Given the description of an element on the screen output the (x, y) to click on. 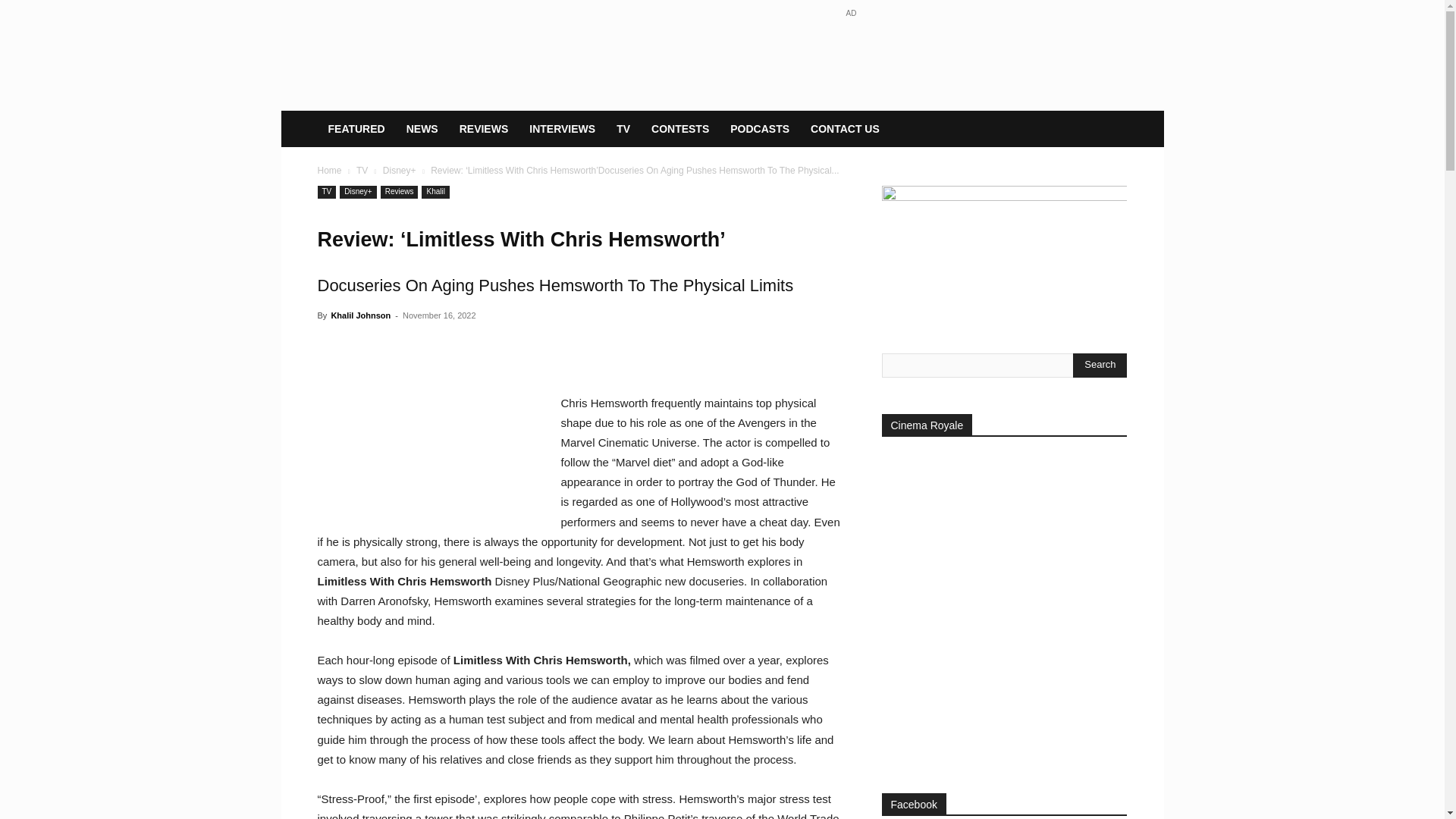
NEWS (422, 128)
FEATURED (355, 128)
Search (1099, 364)
REVIEWS (483, 128)
View all posts in TV (362, 170)
